Given the description of an element on the screen output the (x, y) to click on. 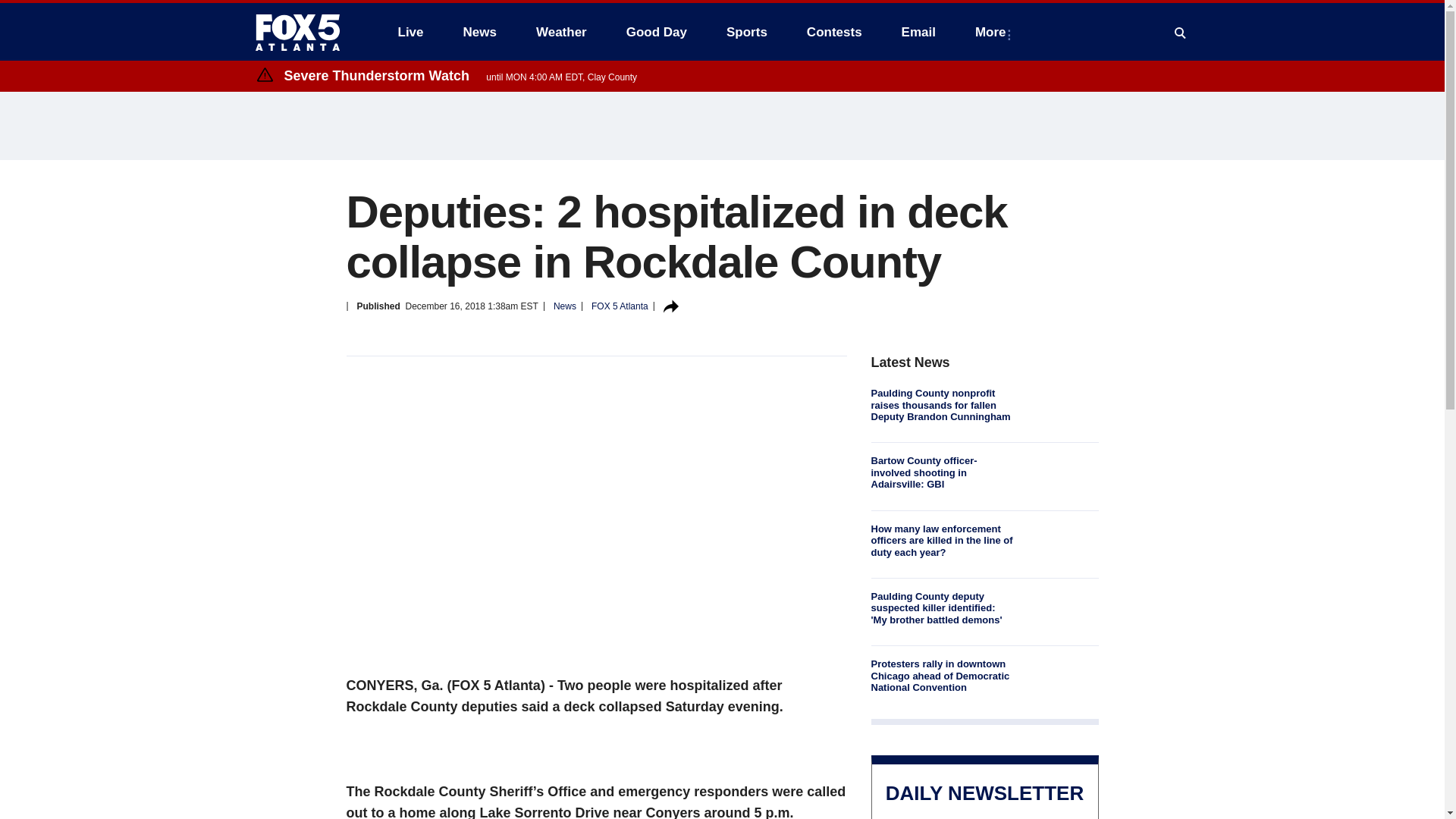
Live (410, 32)
Email (918, 32)
Good Day (656, 32)
More (993, 32)
Contests (834, 32)
Sports (746, 32)
Weather (561, 32)
News (479, 32)
